Given the description of an element on the screen output the (x, y) to click on. 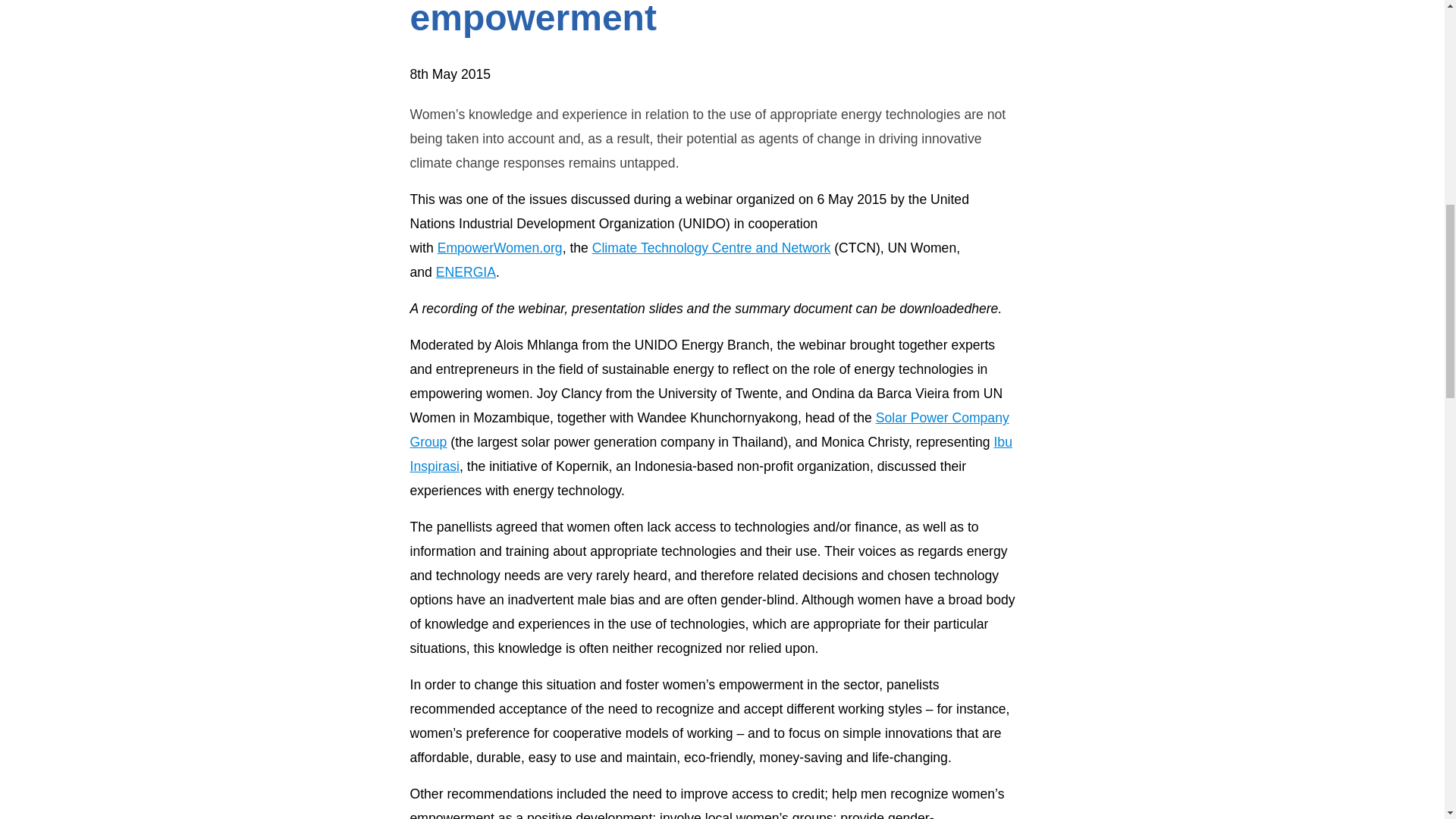
Opens external link in new window (710, 454)
Opens external link in new window (500, 247)
Opens external link in new window (711, 247)
Opens external link in new window (465, 272)
Opens external link in new window (709, 429)
